Given the description of an element on the screen output the (x, y) to click on. 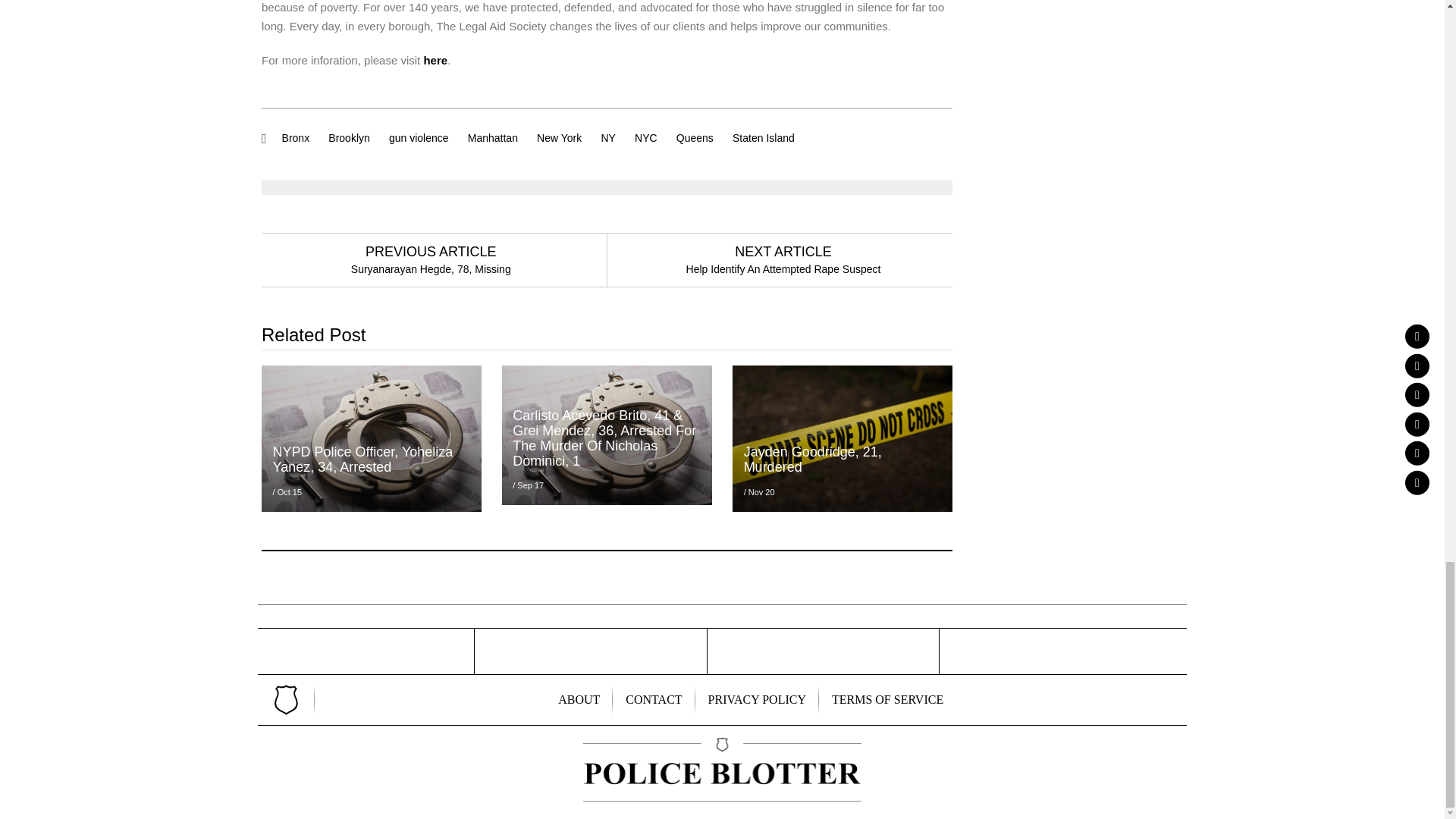
Bronx (296, 138)
here (434, 60)
Brooklyn (348, 138)
